Given the description of an element on the screen output the (x, y) to click on. 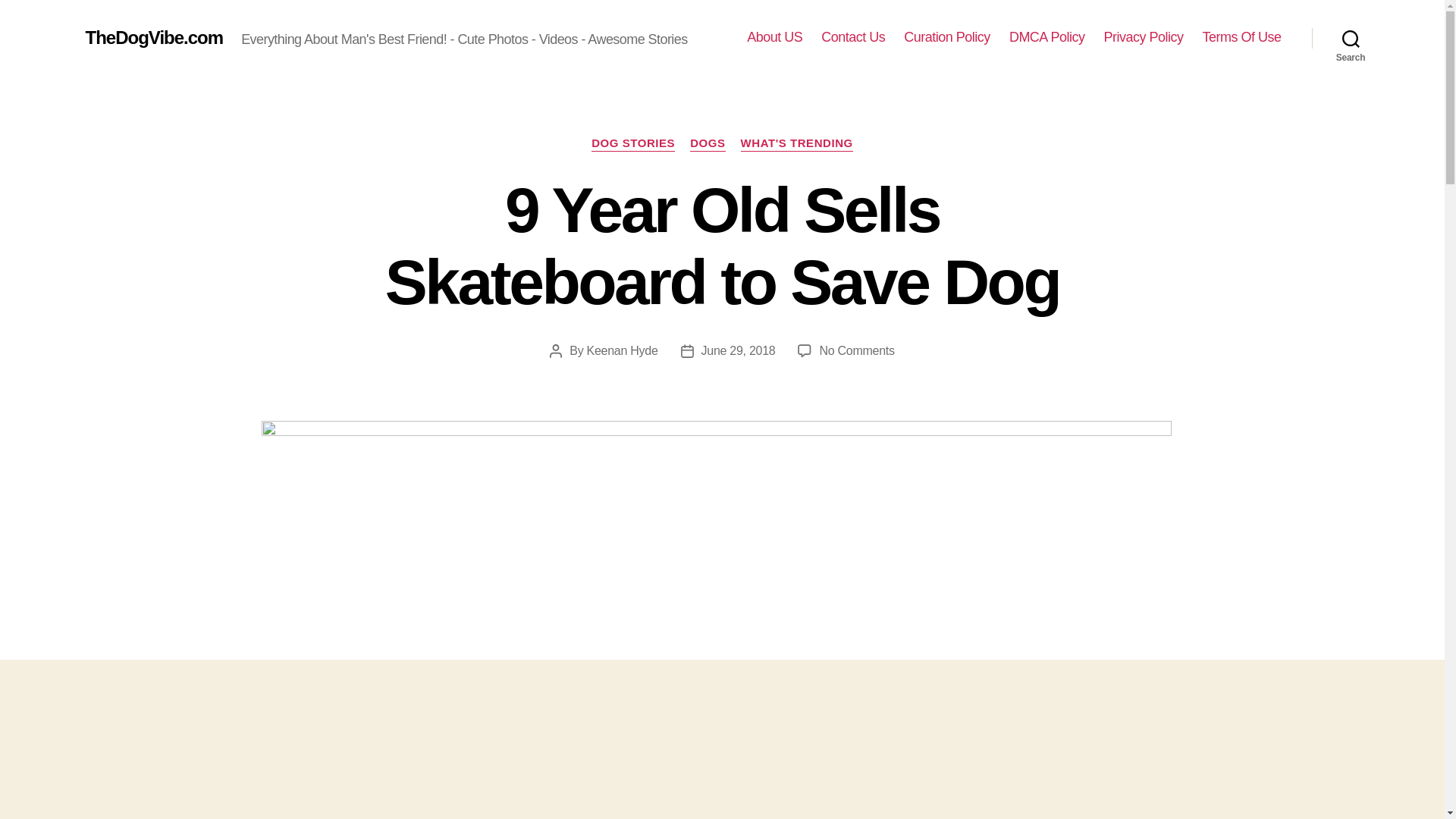
Keenan Hyde (855, 350)
Contact Us (622, 350)
Curation Policy (853, 37)
June 29, 2018 (947, 37)
Privacy Policy (738, 350)
Search (1142, 37)
Terms Of Use (1350, 37)
DMCA Policy (1241, 37)
DOG STORIES (1046, 37)
